Given the description of an element on the screen output the (x, y) to click on. 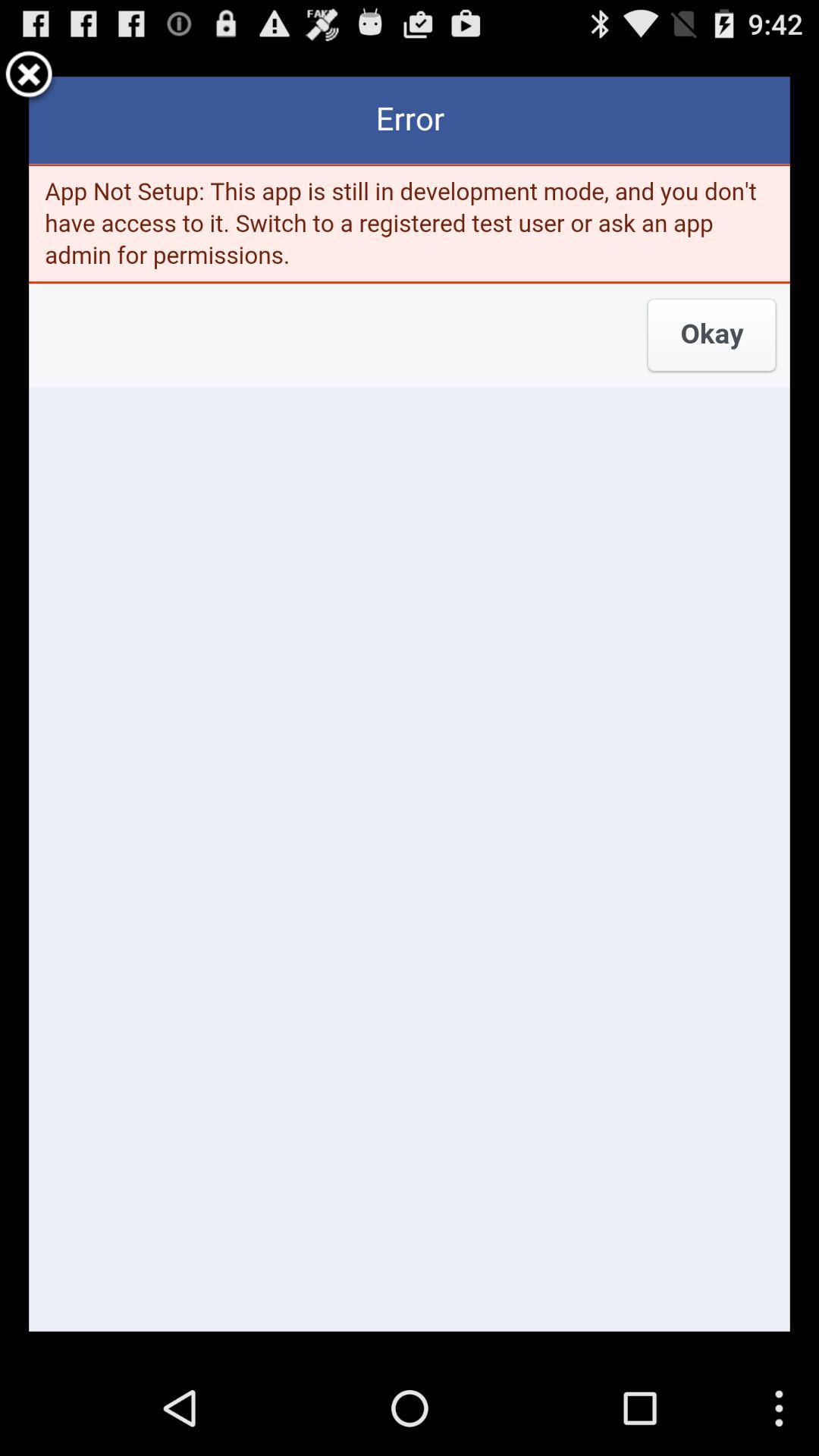
close the page (29, 76)
